Given the description of an element on the screen output the (x, y) to click on. 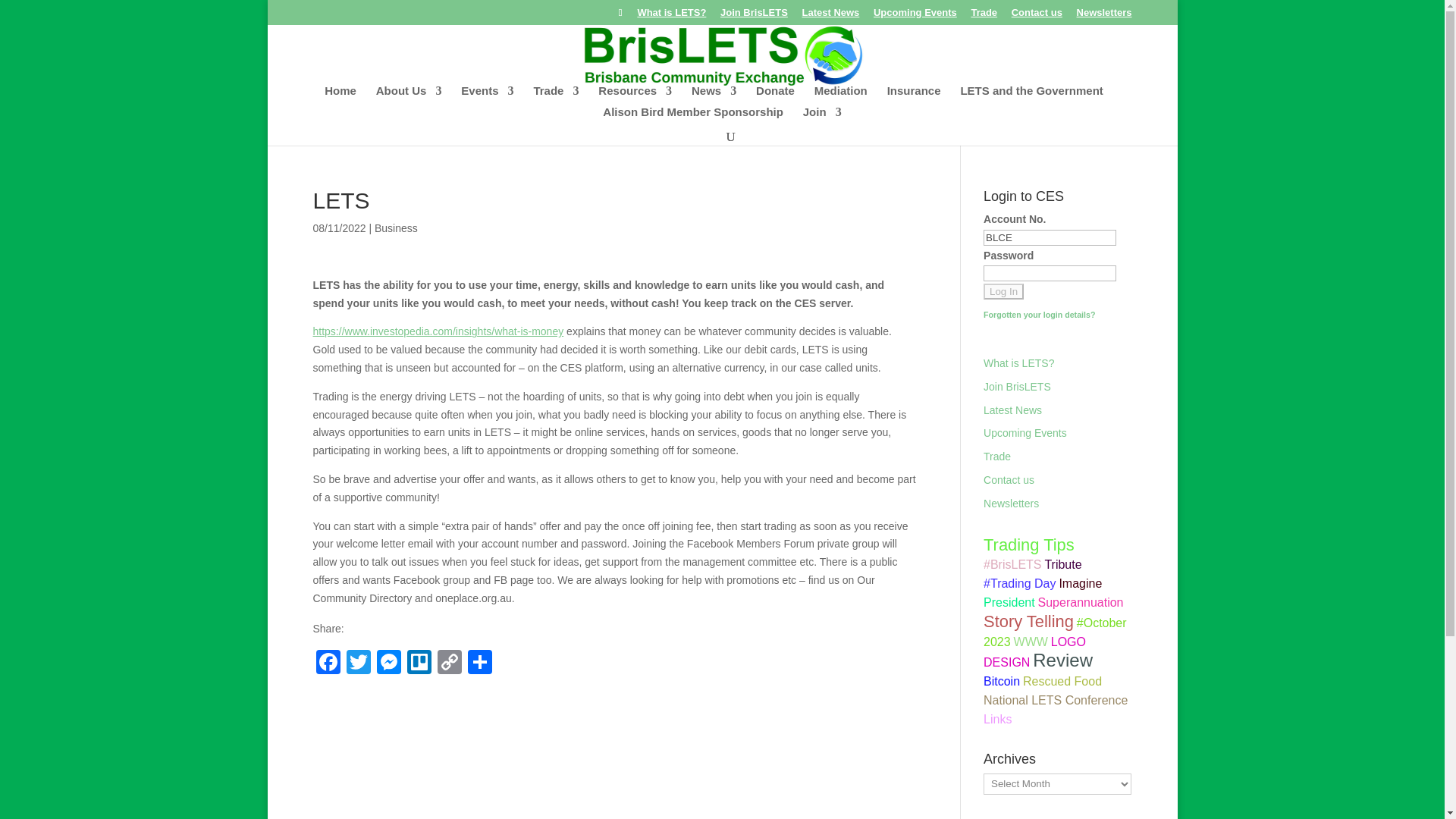
Messenger (387, 664)
Home (340, 96)
BLCE (1050, 237)
News (713, 96)
What is LETS? (671, 16)
Facebook (327, 664)
Resources (634, 96)
Copy Link (448, 664)
Newsletters (1104, 16)
Trello (418, 664)
Contact us (1036, 16)
Log In (1003, 291)
Insurance (913, 96)
Click here to retrieve your login details (1039, 314)
Trade (984, 16)
